Given the description of an element on the screen output the (x, y) to click on. 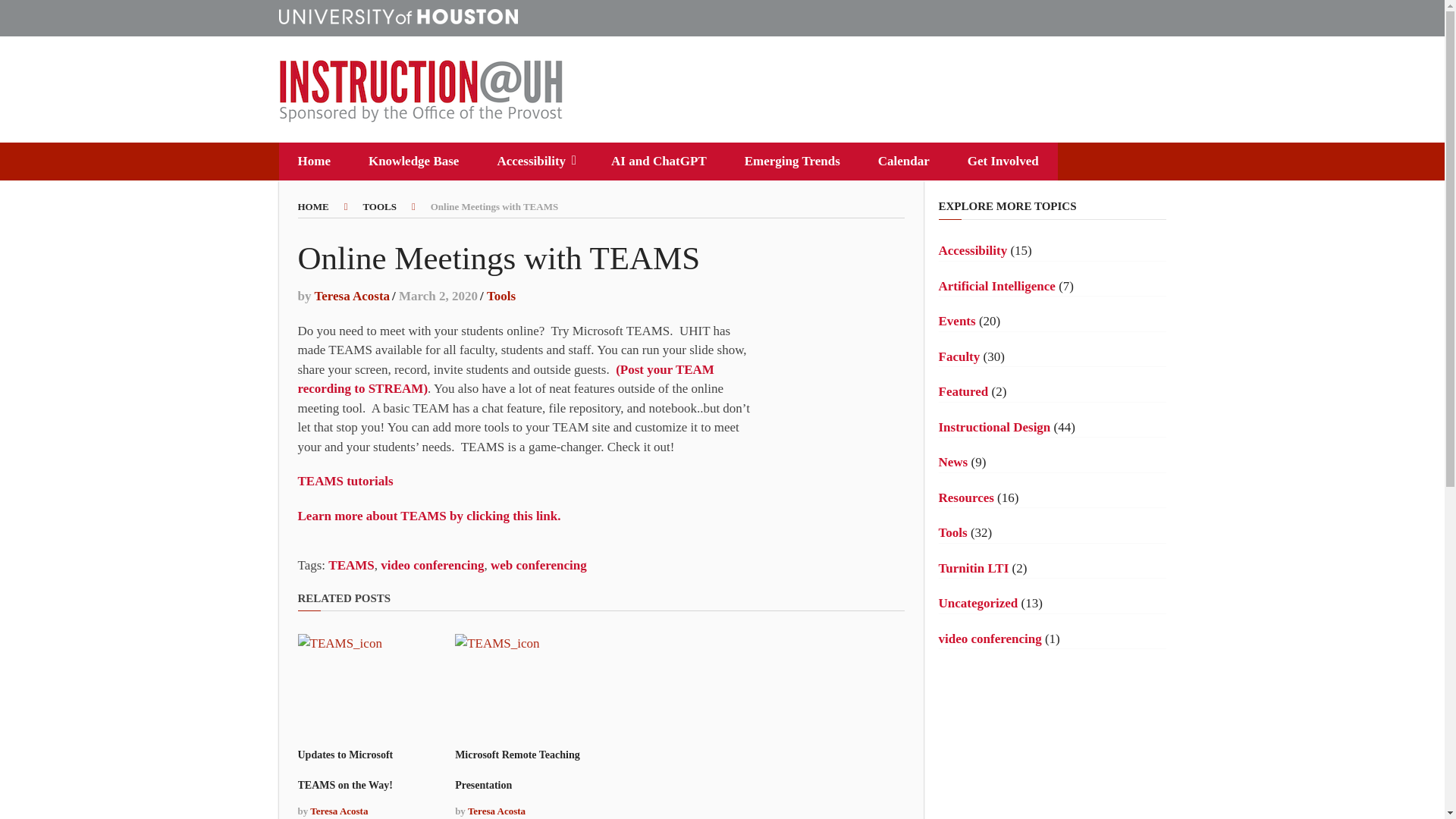
Microsoft Remote Teaching Presentation (516, 769)
Updates to Microsoft TEAMS on the Way! (345, 769)
Artificial Intelligence (997, 286)
Posts by Teresa Acosta (352, 296)
Featured (963, 391)
Home (314, 161)
Teresa Acosta (352, 296)
Events (957, 320)
Updates to Microsoft TEAMS on the Way! (345, 769)
Accessibility (534, 161)
